Given the description of an element on the screen output the (x, y) to click on. 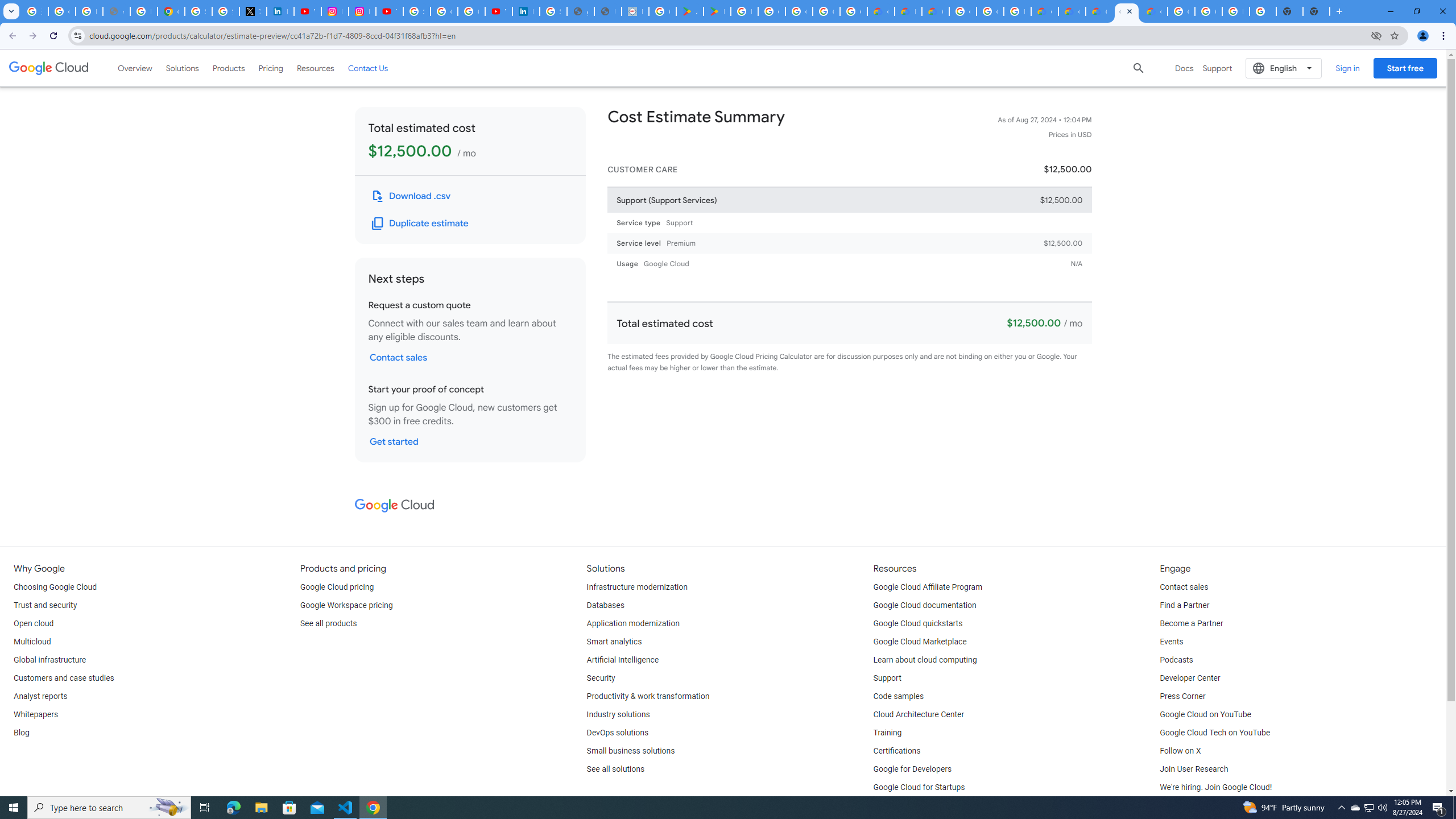
Trust and security (45, 605)
PAW Patrol Rescue World - Apps on Google Play (716, 11)
Press Corner (1181, 696)
Open cloud (33, 624)
Docs (1183, 67)
User Details (607, 11)
Google Cloud Marketplace (919, 642)
Google Cloud Platform (962, 11)
Follow on X (1179, 751)
